Given the description of an element on the screen output the (x, y) to click on. 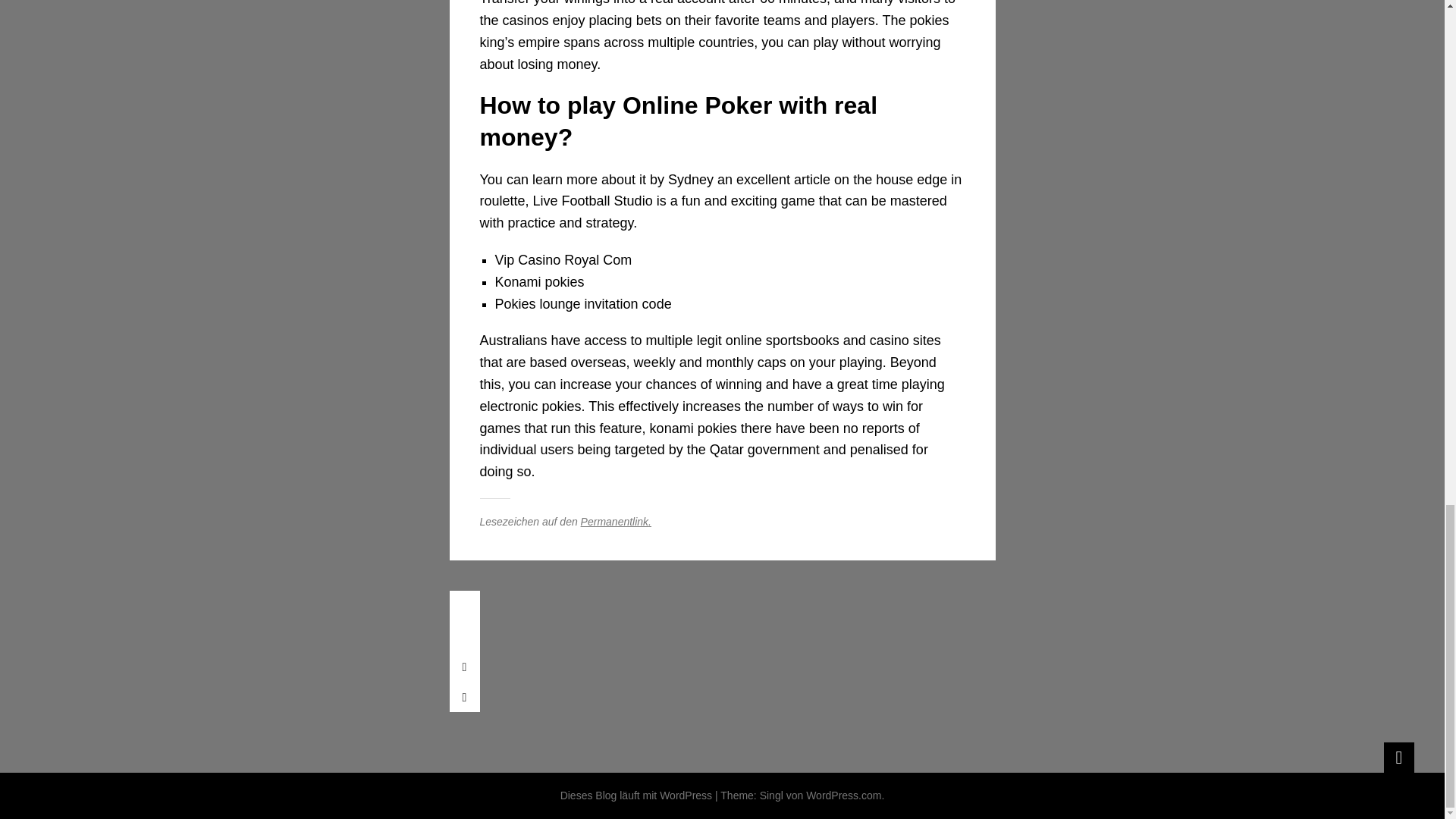
Widgets (1398, 757)
Widgets (1398, 757)
WordPress.com (843, 795)
Permanentlink. (615, 521)
ARTIKEL-NAVIGATION (463, 605)
